Given the description of an element on the screen output the (x, y) to click on. 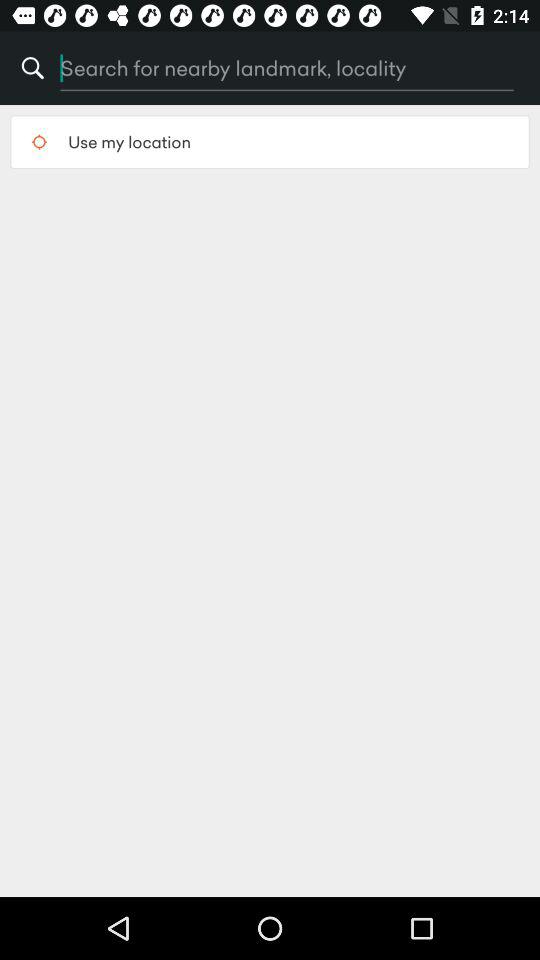
open item to the right of % icon (243, 68)
